Given the description of an element on the screen output the (x, y) to click on. 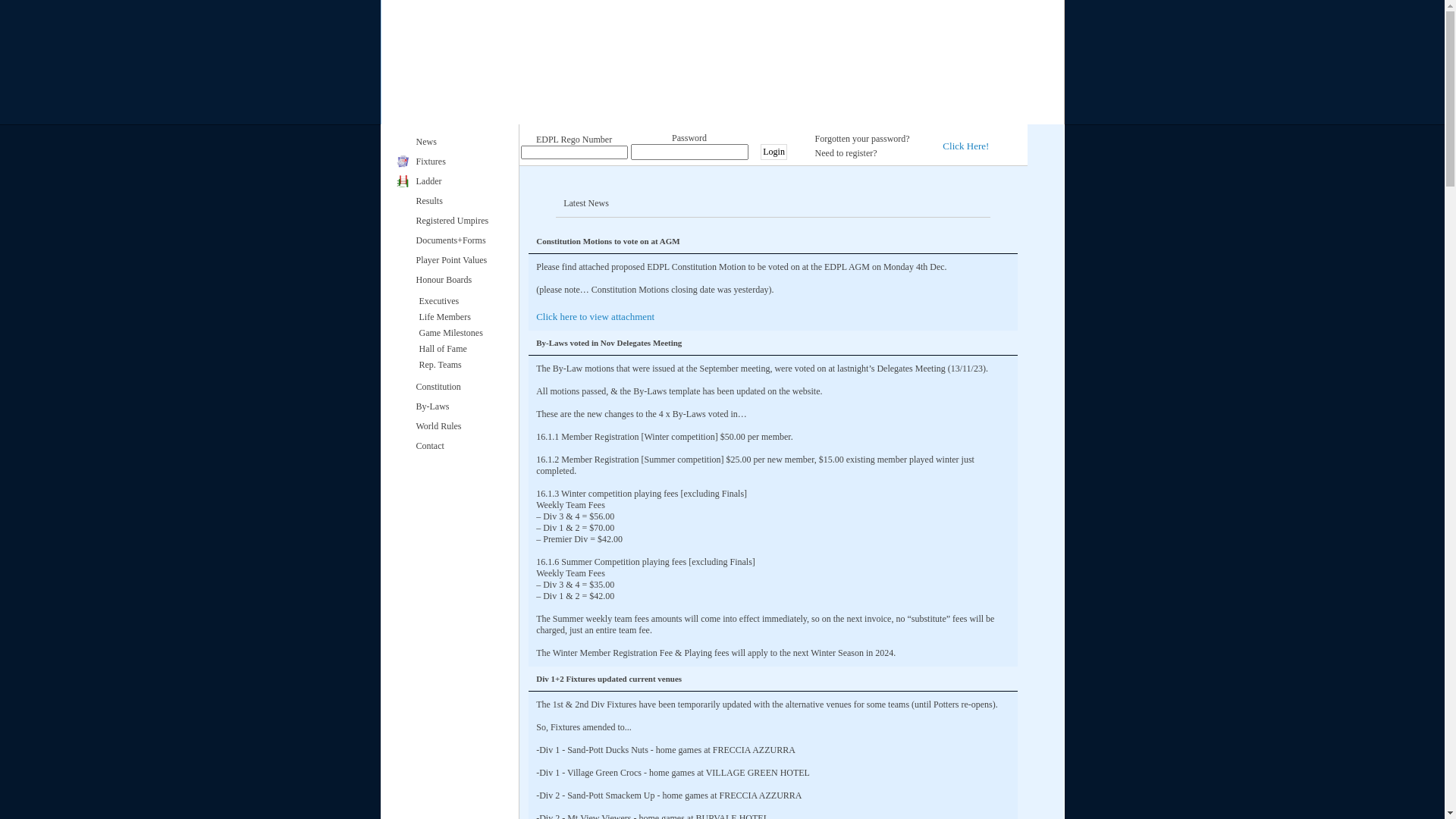
Documents+Forms Element type: text (458, 240)
Constitution Element type: text (458, 386)
Registered Umpires Element type: text (458, 220)
Game Milestones Element type: text (458, 333)
Rep. Teams Element type: text (458, 365)
Life Members Element type: text (458, 317)
Player Point Values Element type: text (458, 259)
Contact Element type: text (458, 445)
Click here to view attachment Element type: text (595, 316)
News Element type: text (458, 141)
By-Laws Element type: text (458, 406)
Honour Boards Element type: text (458, 279)
Click Here! Element type: text (965, 146)
Login Element type: text (773, 152)
Executives Element type: text (458, 301)
Ladder Element type: text (458, 181)
Hall of Fame Element type: text (458, 349)
Results Element type: text (458, 200)
Fixtures Element type: text (458, 161)
World Rules Element type: text (458, 426)
